Given the description of an element on the screen output the (x, y) to click on. 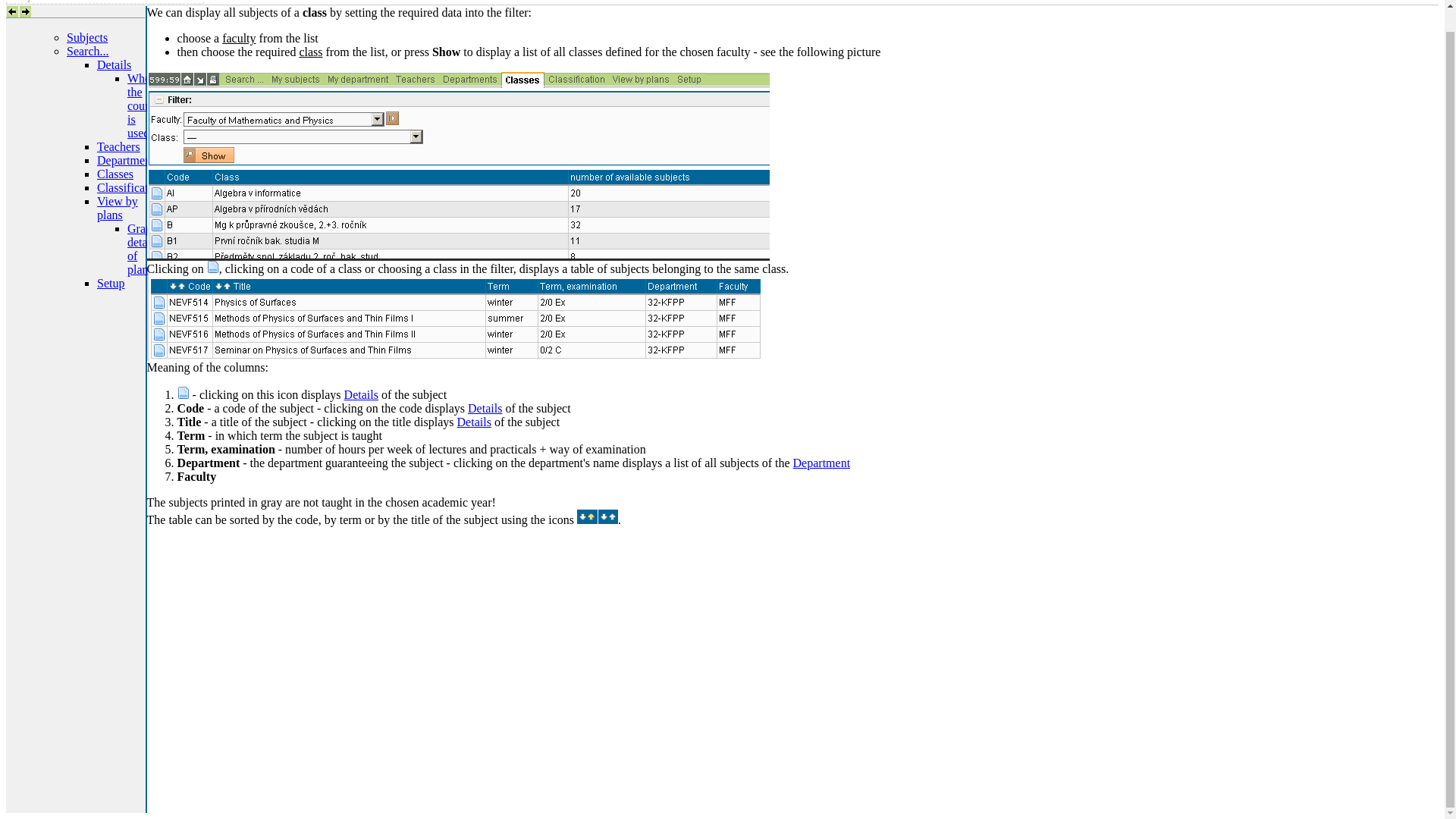
Subjects (86, 37)
Details (360, 394)
Details (474, 421)
1403.png (183, 392)
Search... (87, 51)
View by plans (117, 207)
1682.png (454, 318)
Classification (130, 187)
1403.png (212, 266)
Details (114, 64)
Department (125, 160)
Classes (115, 173)
Details (484, 408)
Department (821, 462)
1483.png (596, 516)
